Given the description of an element on the screen output the (x, y) to click on. 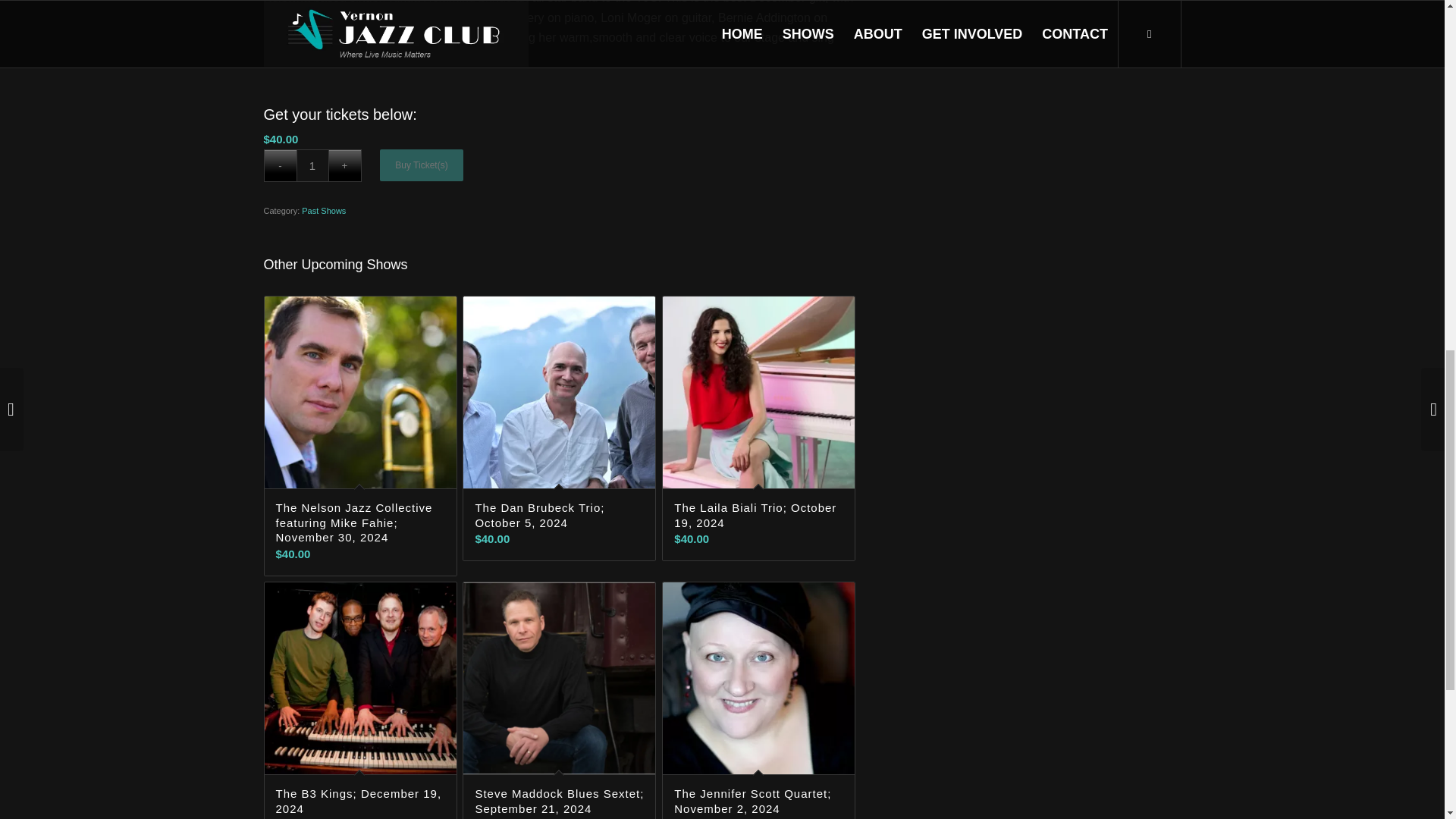
Past Shows (323, 210)
- (280, 165)
1 (312, 165)
